Given the description of an element on the screen output the (x, y) to click on. 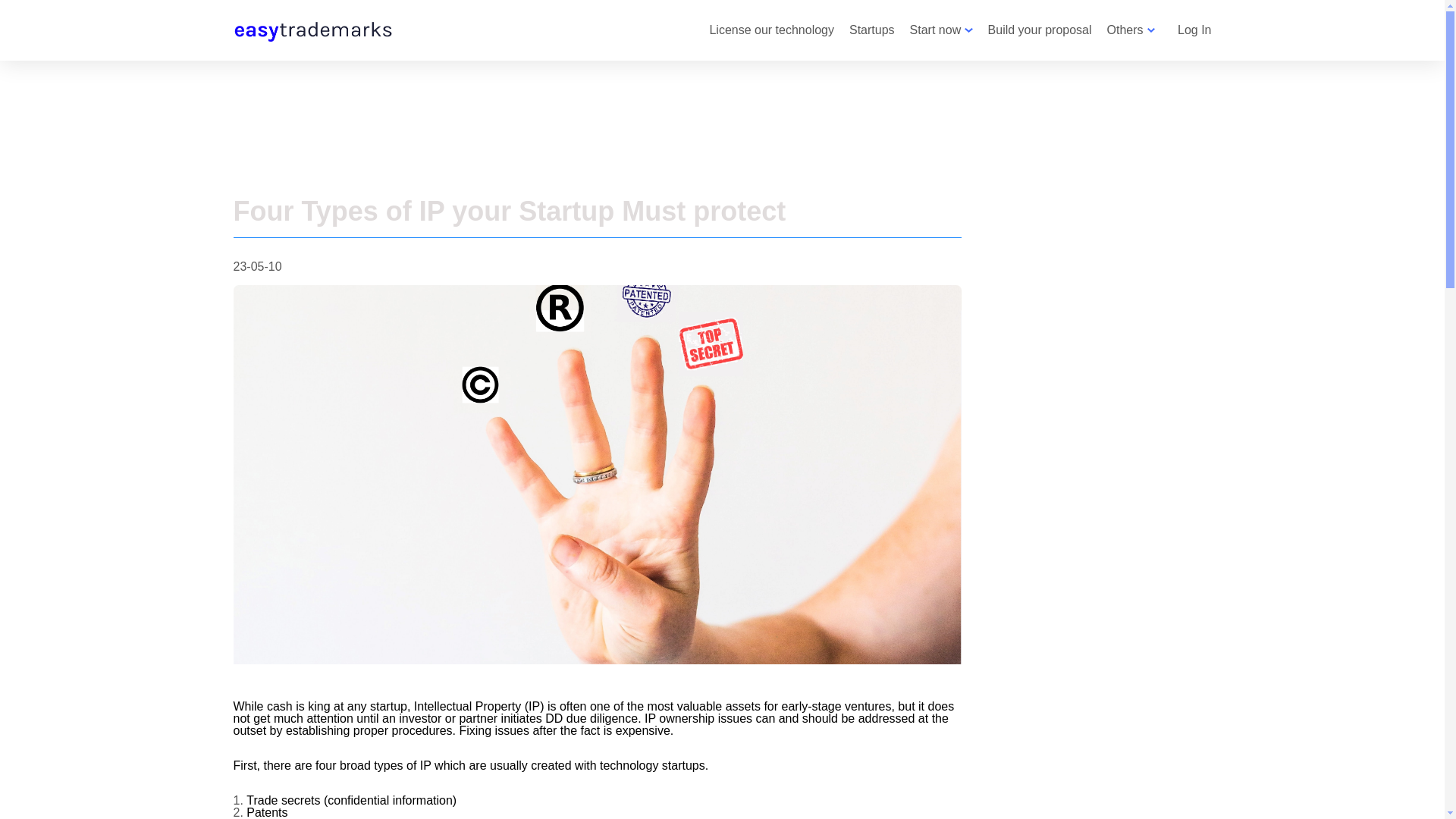
Startups (871, 29)
Build your proposal (1040, 29)
License our technology (771, 29)
Log In (1194, 30)
